Given the description of an element on the screen output the (x, y) to click on. 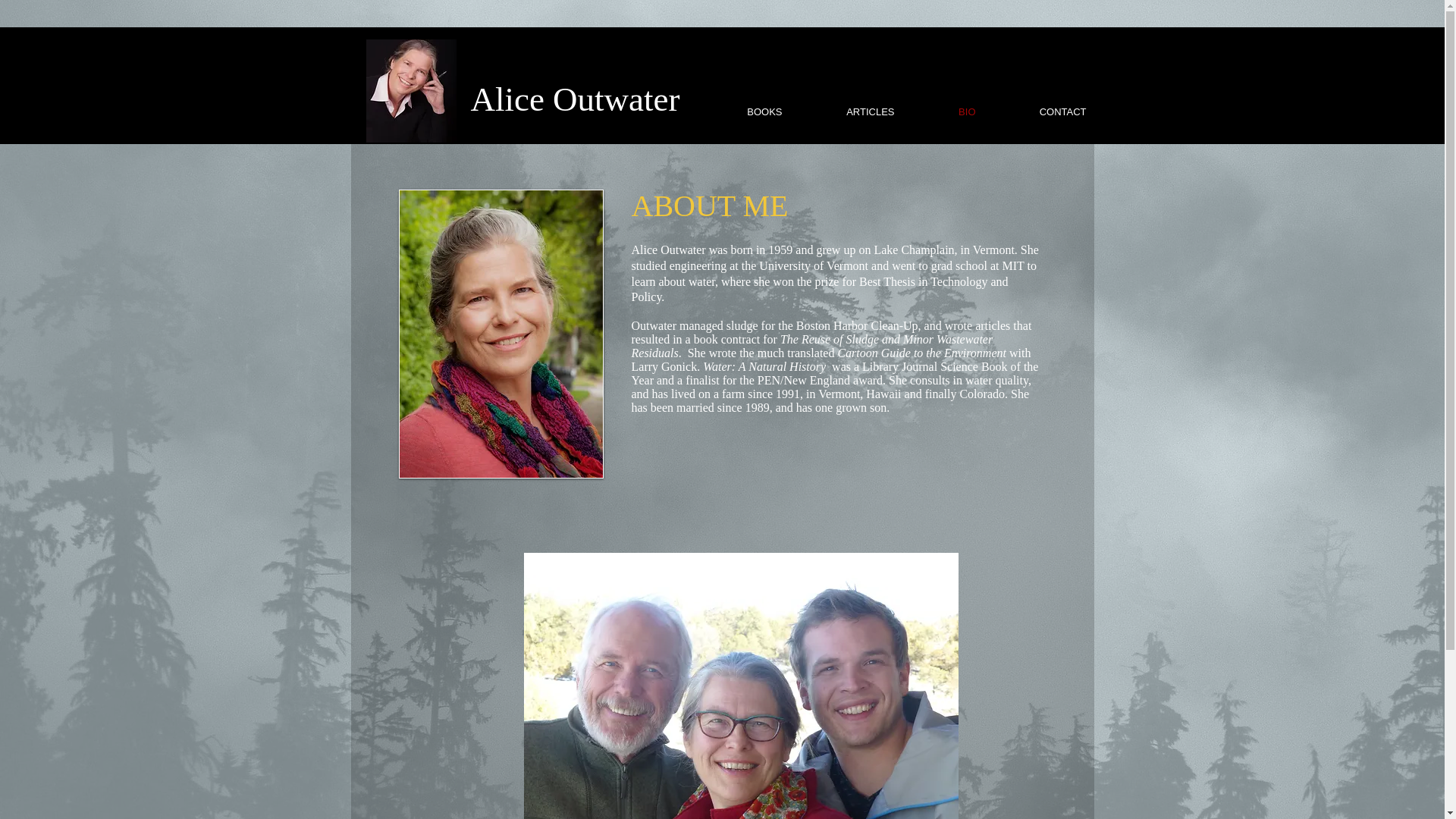
BIO (943, 111)
BOOKS (740, 111)
ARTICLES (846, 111)
CONTACT (1039, 111)
